Given the description of an element on the screen output the (x, y) to click on. 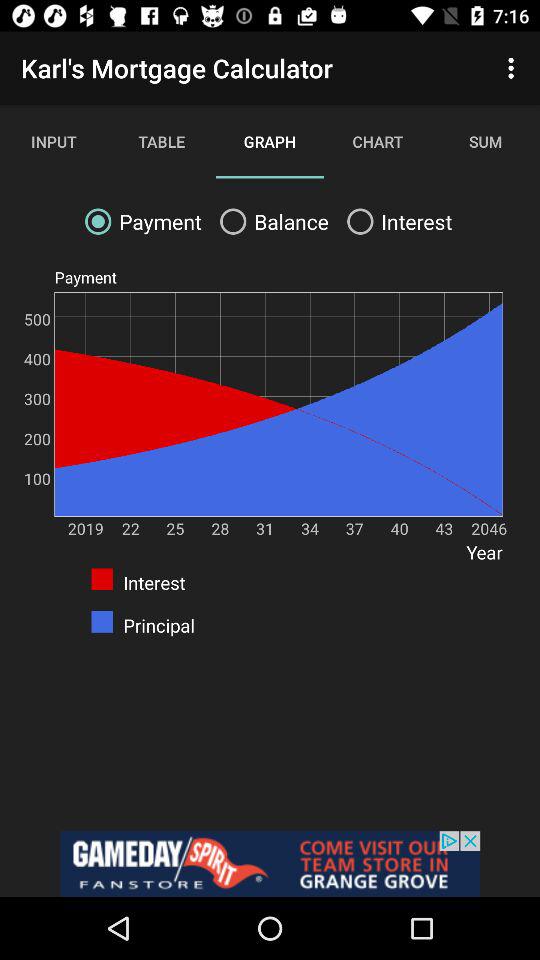
open advertisement (270, 864)
